Given the description of an element on the screen output the (x, y) to click on. 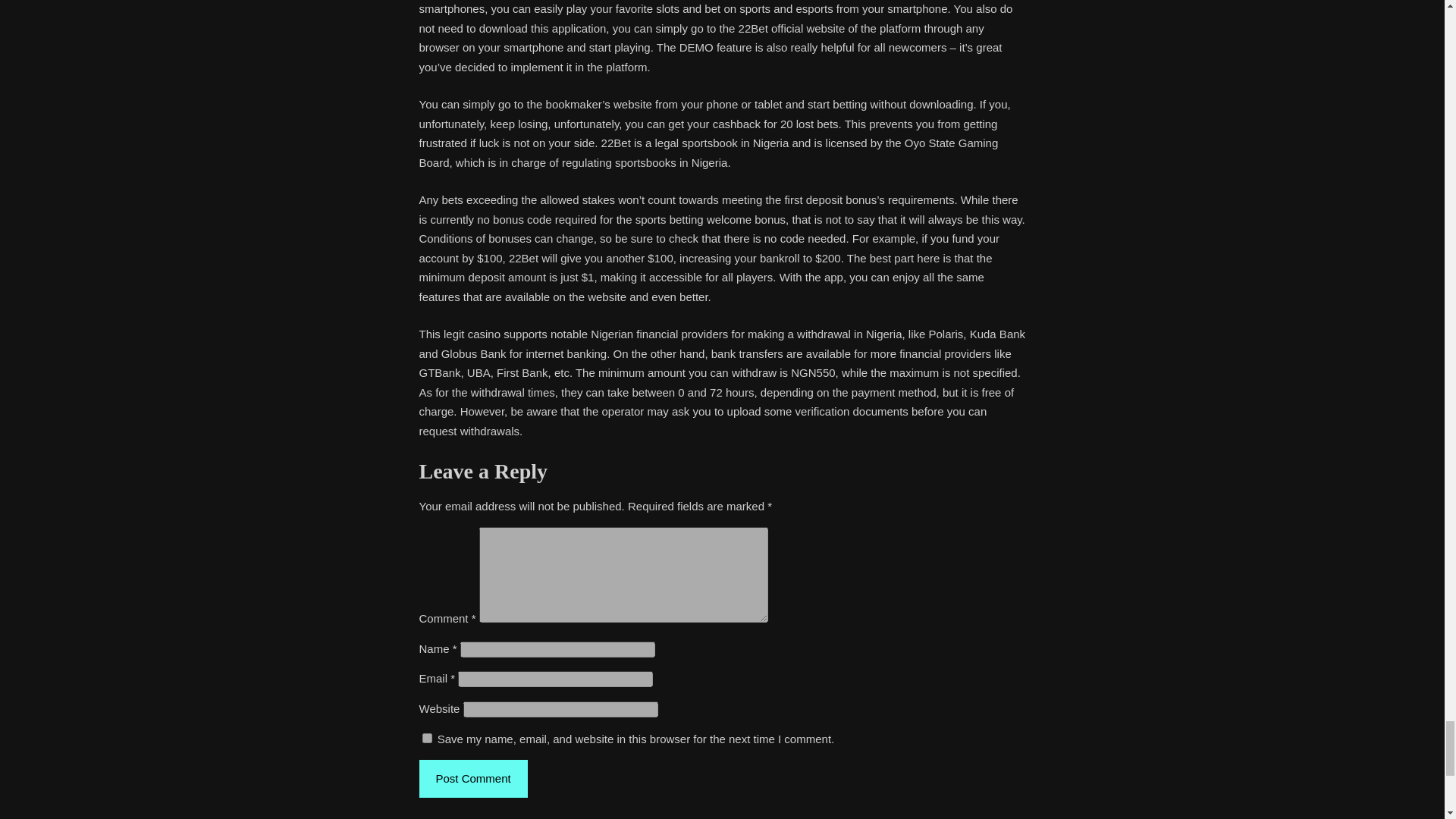
Post Comment (473, 778)
yes (426, 737)
Post Comment (473, 778)
